Given the description of an element on the screen output the (x, y) to click on. 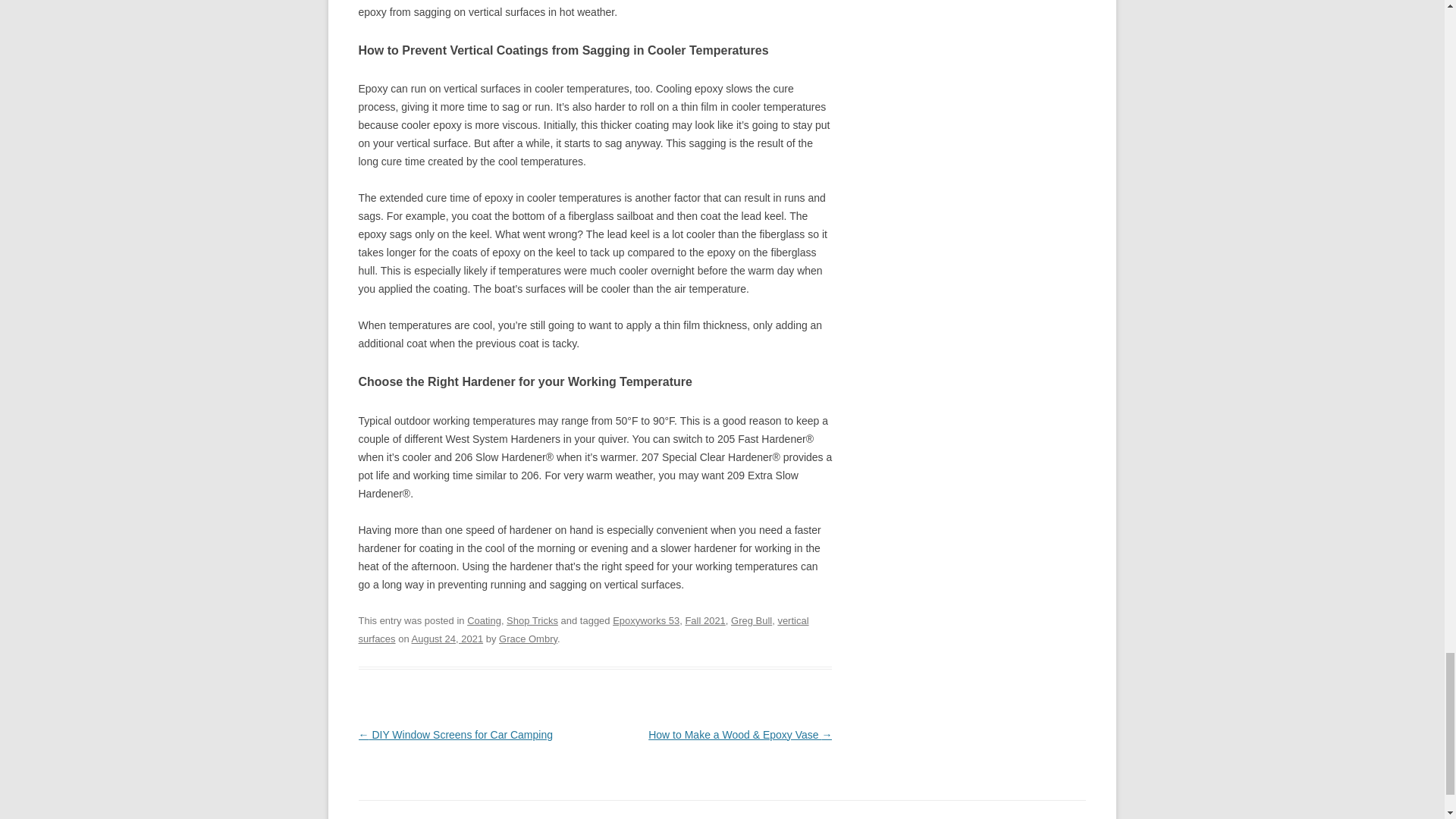
Greg Bull (750, 620)
Shop Tricks (531, 620)
3:38 pm (447, 638)
Epoxyworks 53 (645, 620)
View all posts by Grace Ombry (528, 638)
August 24, 2021 (447, 638)
Coating (483, 620)
vertical surfaces (583, 629)
Grace Ombry (528, 638)
Fall 2021 (704, 620)
